Given the description of an element on the screen output the (x, y) to click on. 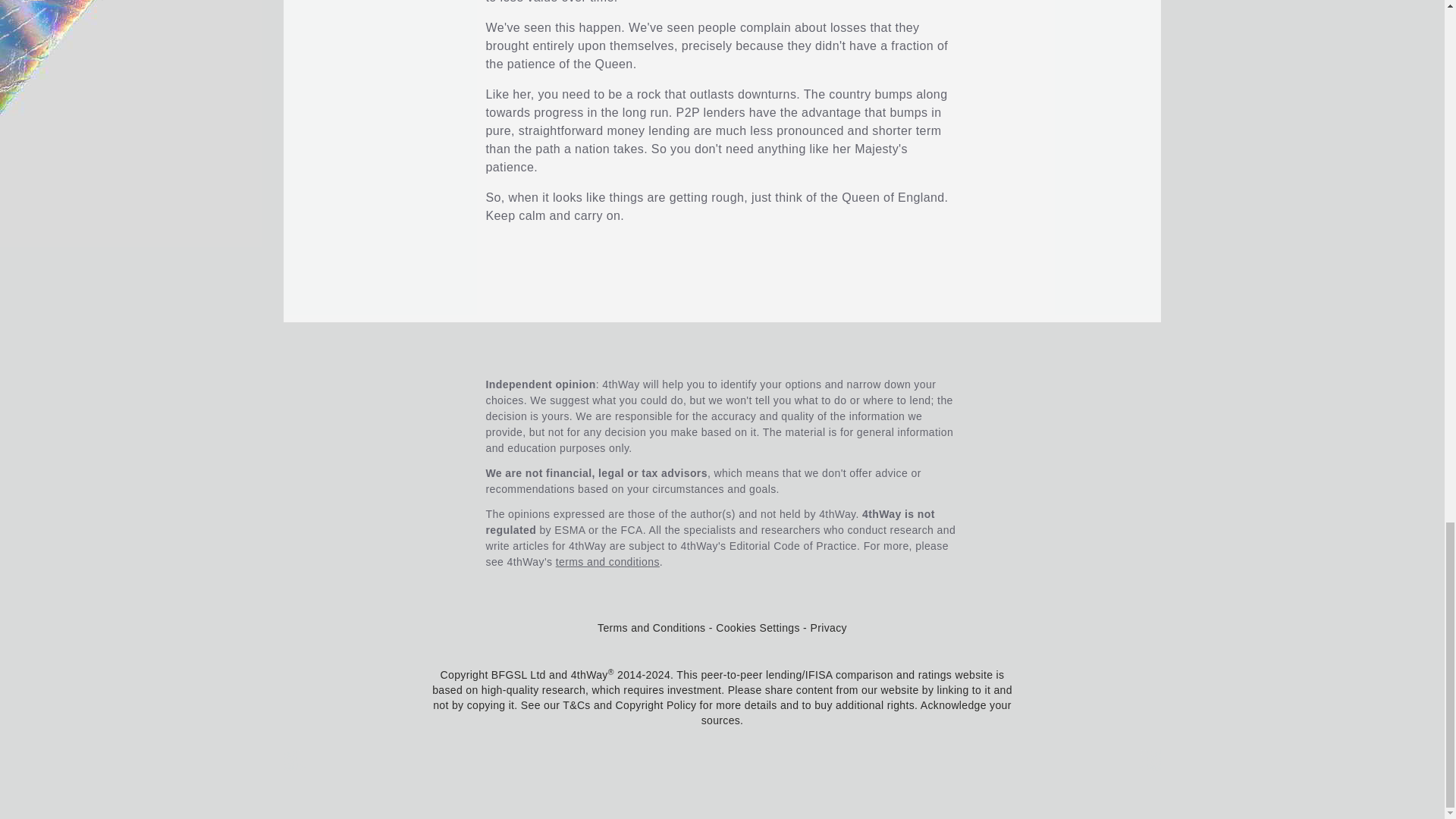
terms and conditions (607, 562)
Privacy (828, 627)
Cookies Settings (757, 627)
Terms and Conditions (650, 627)
